Given the description of an element on the screen output the (x, y) to click on. 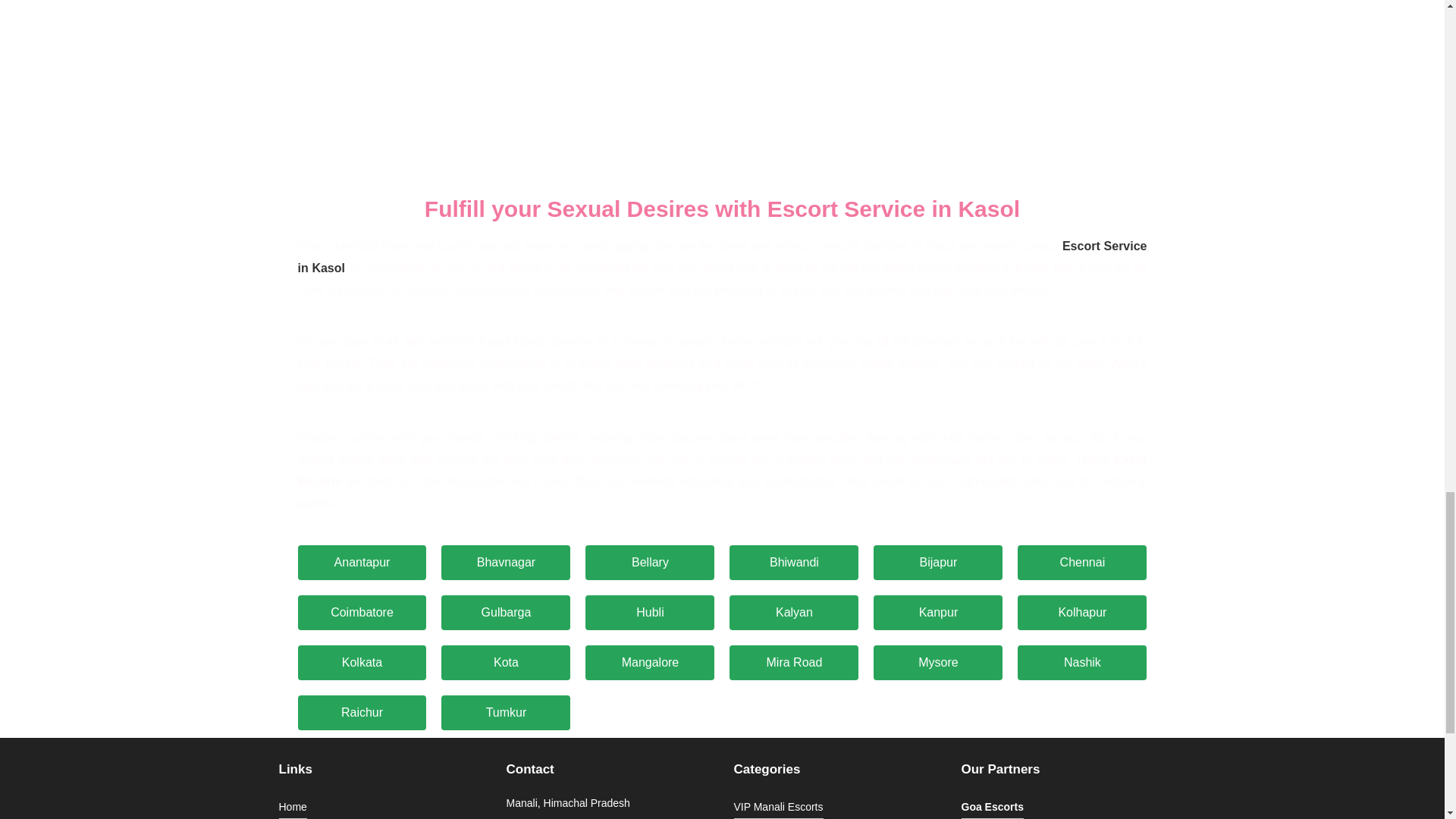
Mira Road (794, 662)
Tumkur (505, 712)
Mangalore (649, 662)
Hubli (649, 612)
Kolkata (361, 662)
Kota (505, 662)
Chennai (1082, 562)
Mysore (938, 662)
Kalyan (794, 612)
Anantapur (361, 562)
Bijapur (938, 562)
Gulbarga (505, 612)
Bellary (649, 562)
Bhavnagar (505, 562)
Kanpur (938, 612)
